Given the description of an element on the screen output the (x, y) to click on. 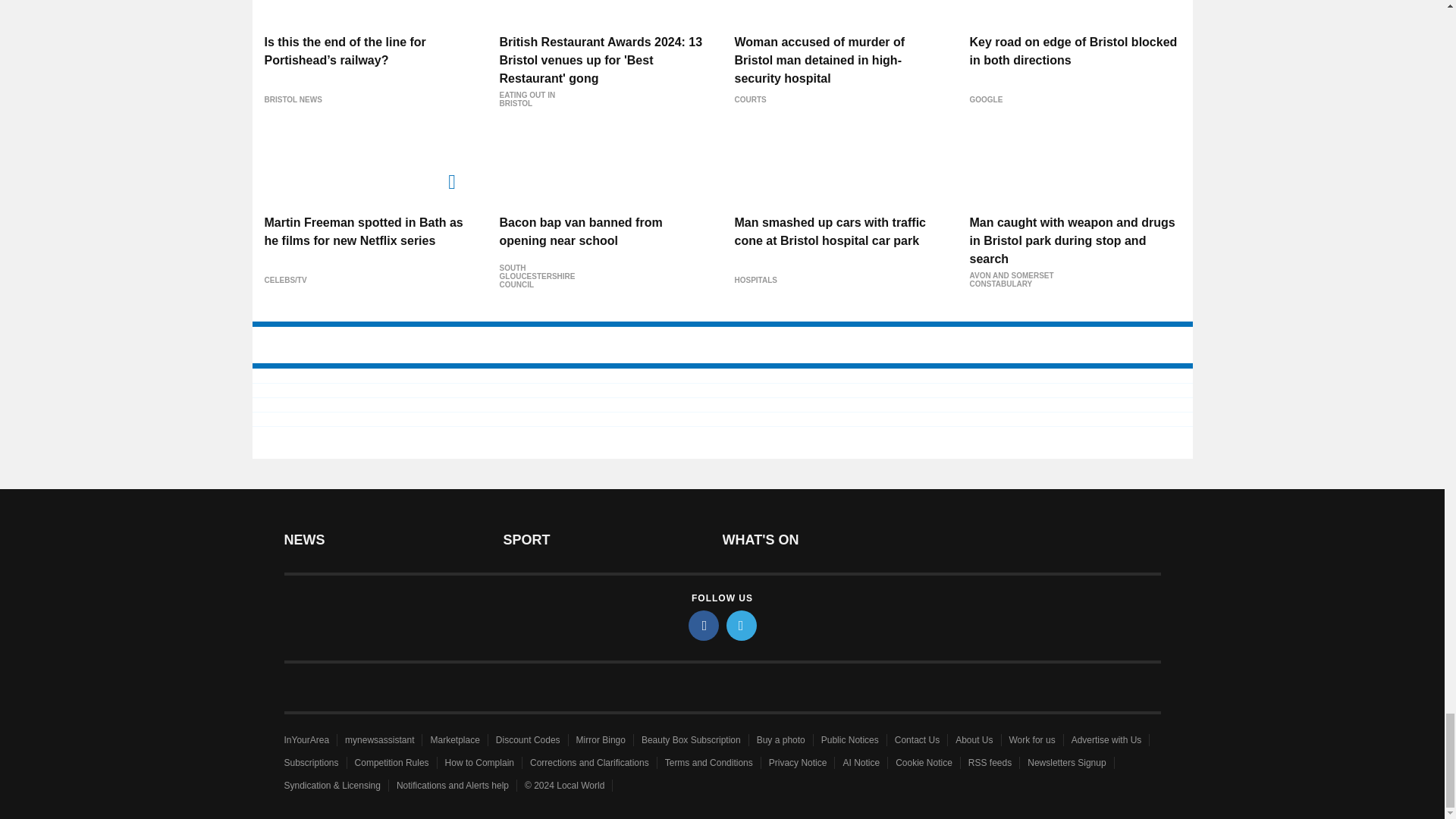
twitter (741, 625)
facebook (703, 625)
